Given the description of an element on the screen output the (x, y) to click on. 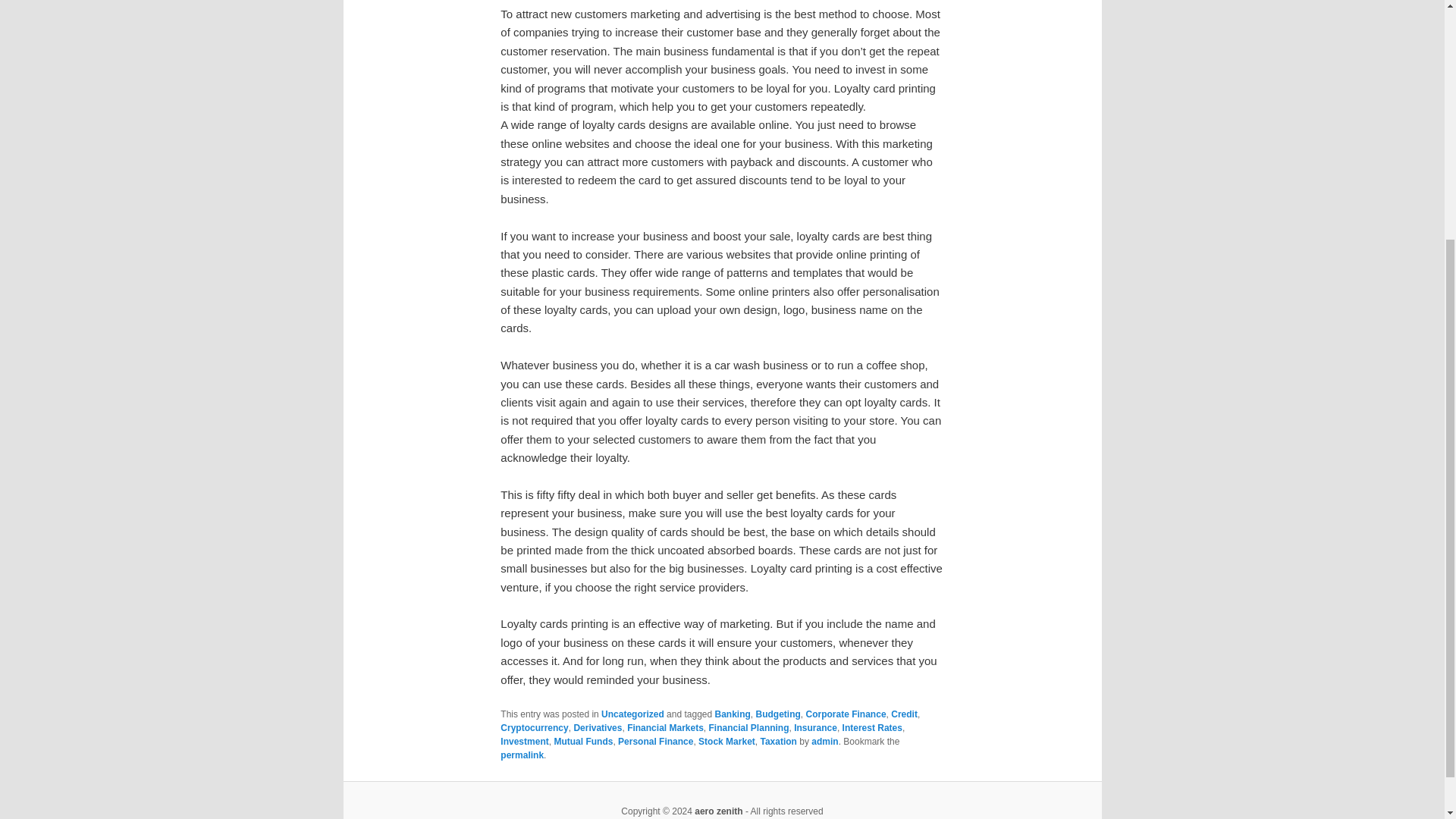
View all posts in Uncategorized (632, 714)
aero zenith (718, 810)
Stock Market (726, 741)
Derivatives (597, 727)
Investment (524, 741)
Insurance (815, 727)
Corporate Finance (846, 714)
Budgeting (777, 714)
Personal Finance (655, 741)
Credit (904, 714)
Financial Markets (665, 727)
Mutual Funds (582, 741)
Banking (732, 714)
permalink (521, 755)
